Given the description of an element on the screen output the (x, y) to click on. 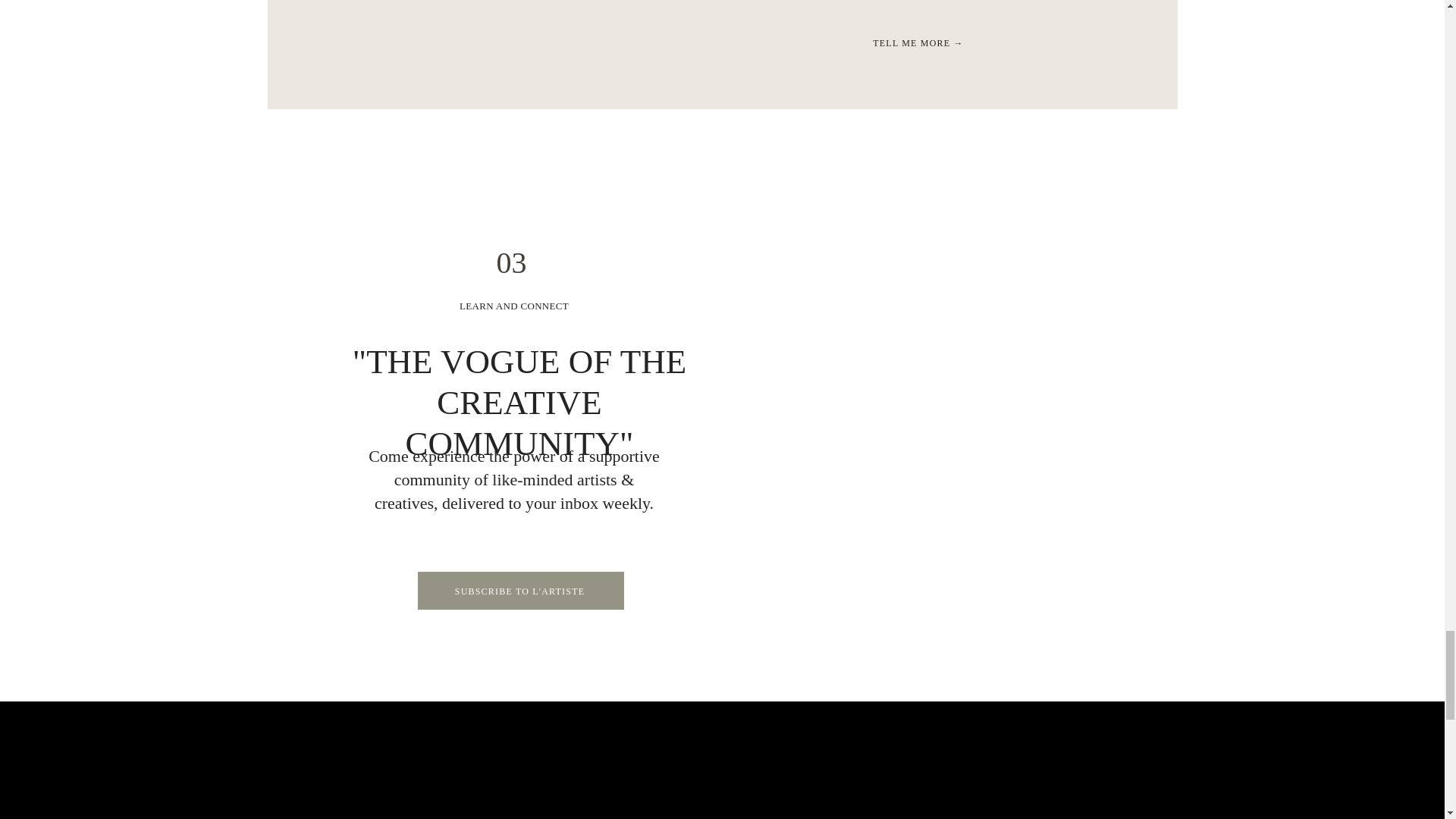
SUBSCRIBE TO L'ARTISTE (518, 590)
